Given the description of an element on the screen output the (x, y) to click on. 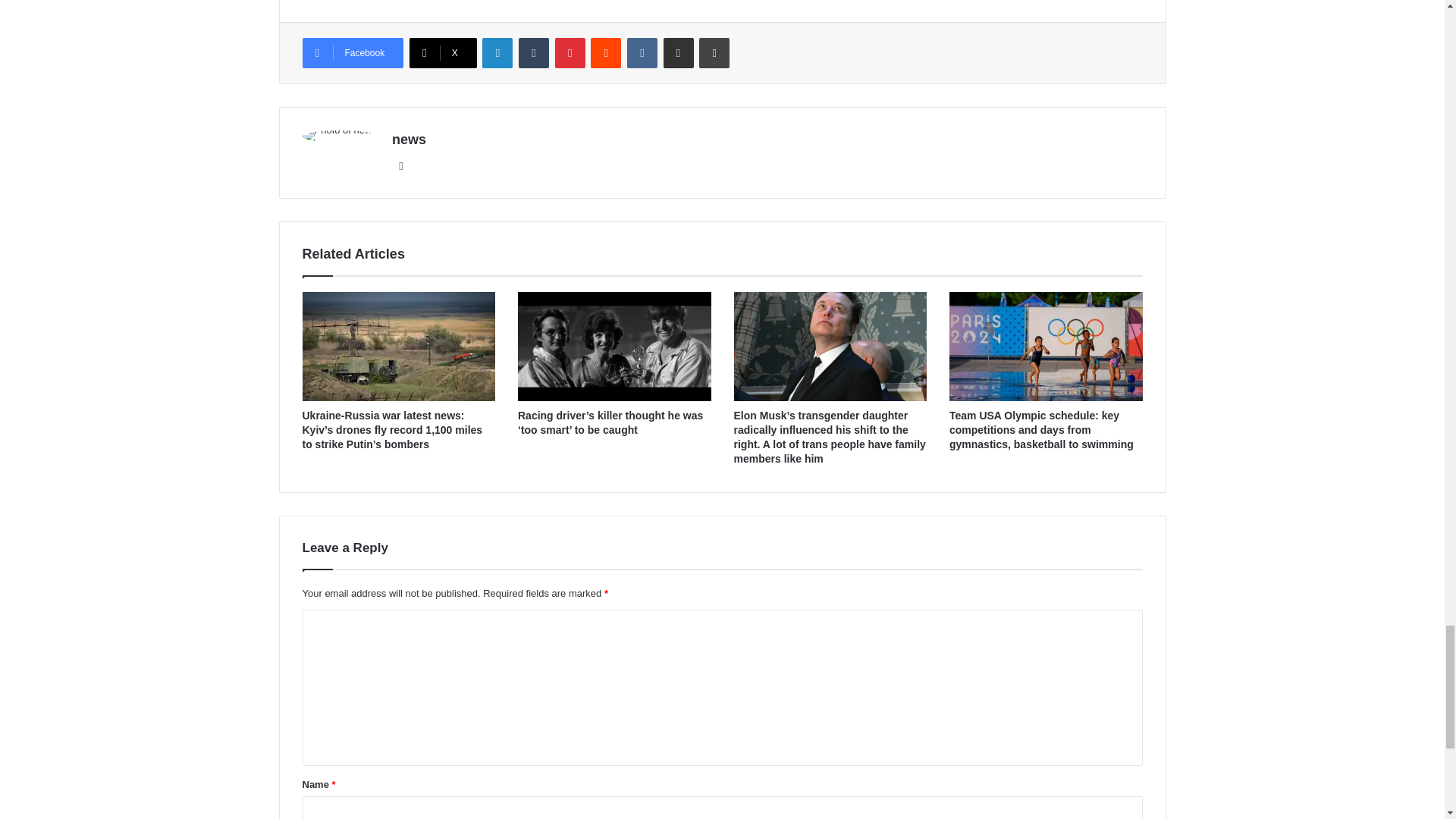
VKontakte (642, 52)
Pinterest (569, 52)
Share via Email (678, 52)
Facebook (352, 52)
LinkedIn (496, 52)
Reddit (606, 52)
Tumblr (533, 52)
X (443, 52)
Website (400, 166)
news (408, 139)
Print (713, 52)
